Given the description of an element on the screen output the (x, y) to click on. 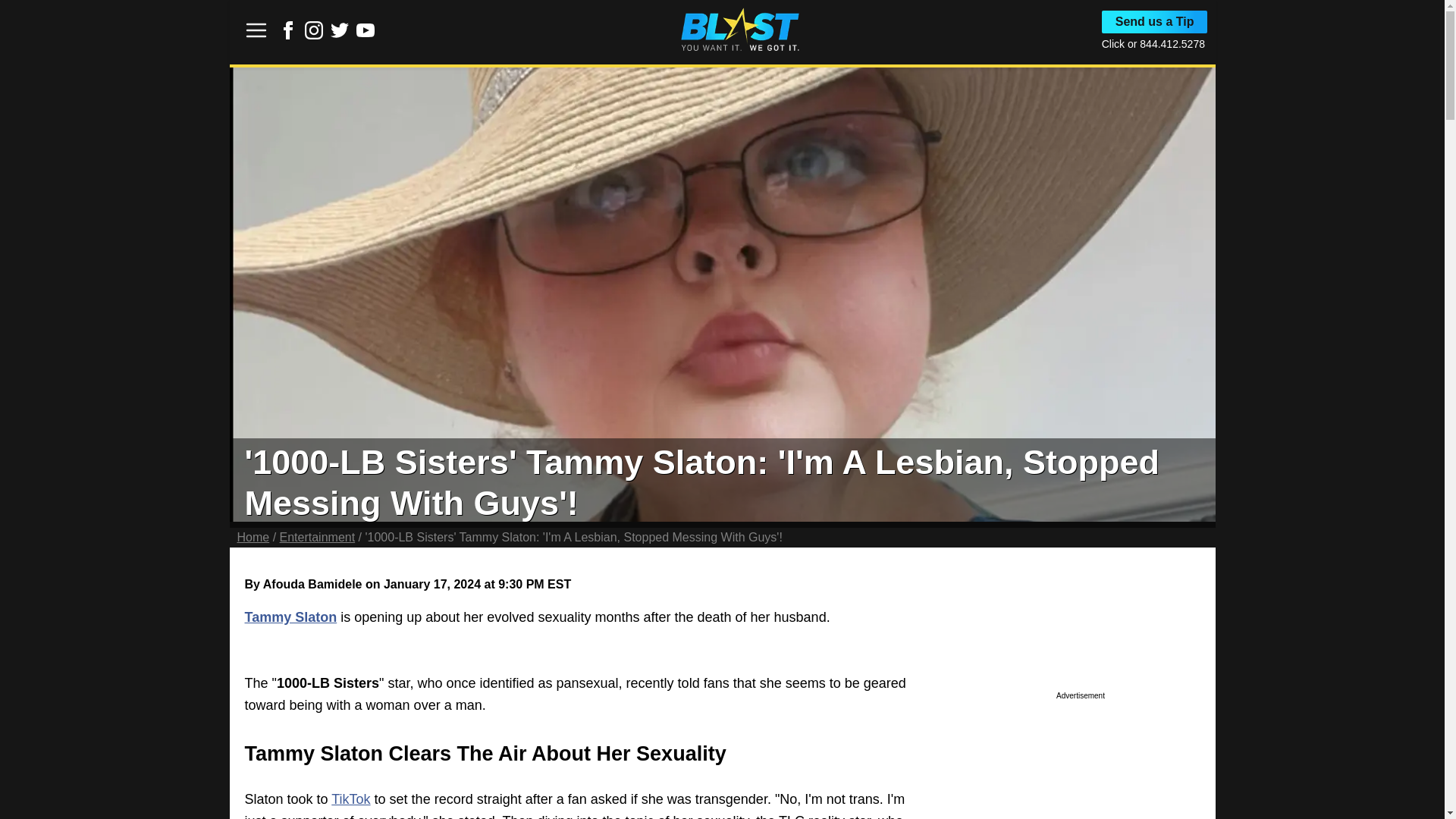
Click or 844.412.5278 (1153, 43)
Send us a Tip (1155, 21)
Link to Facebook (288, 34)
TikTok (350, 798)
Link to Youtube (365, 30)
Link to Instagram (313, 30)
Link to Twitter (339, 34)
Link to Twitter (339, 30)
Tammy Slaton (290, 616)
Entertainment (317, 536)
